Given the description of an element on the screen output the (x, y) to click on. 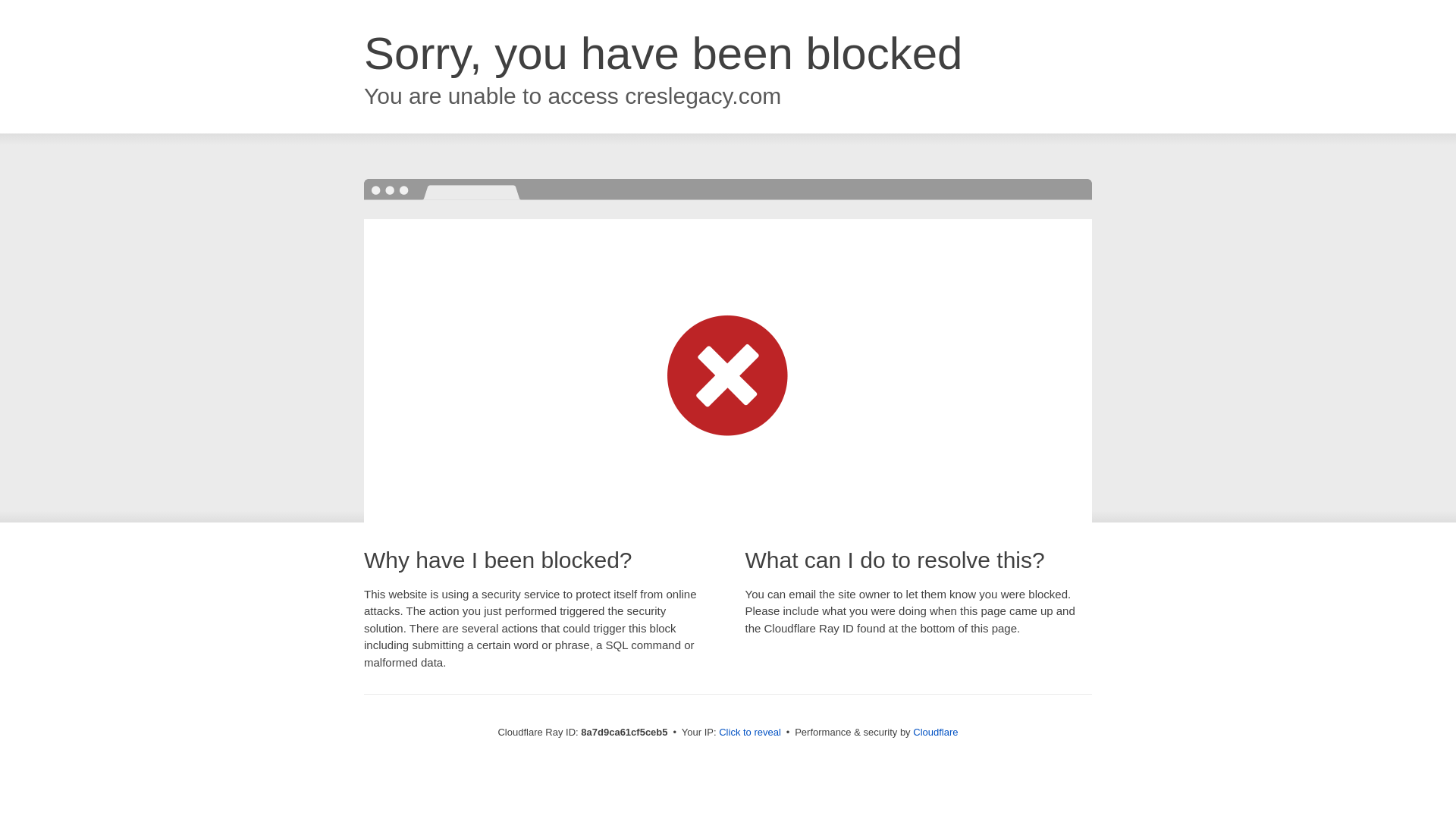
Click to reveal (749, 732)
Cloudflare (935, 731)
